Given the description of an element on the screen output the (x, y) to click on. 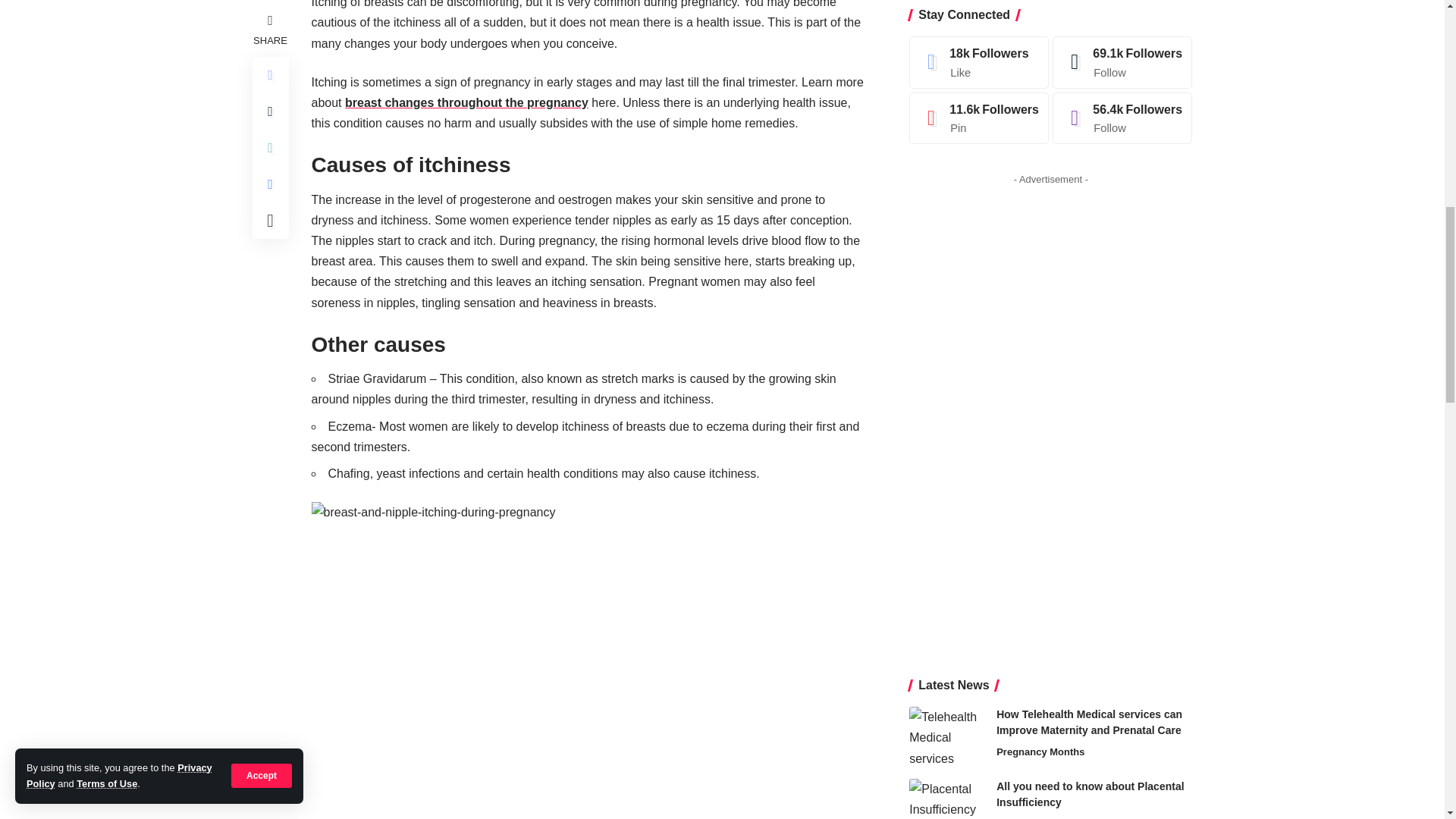
Melasma During Pregnancy: Symptoms, Causes, and Treatment (946, 346)
All you need to know about Placental Insufficiency (946, 274)
